Given the description of an element on the screen output the (x, y) to click on. 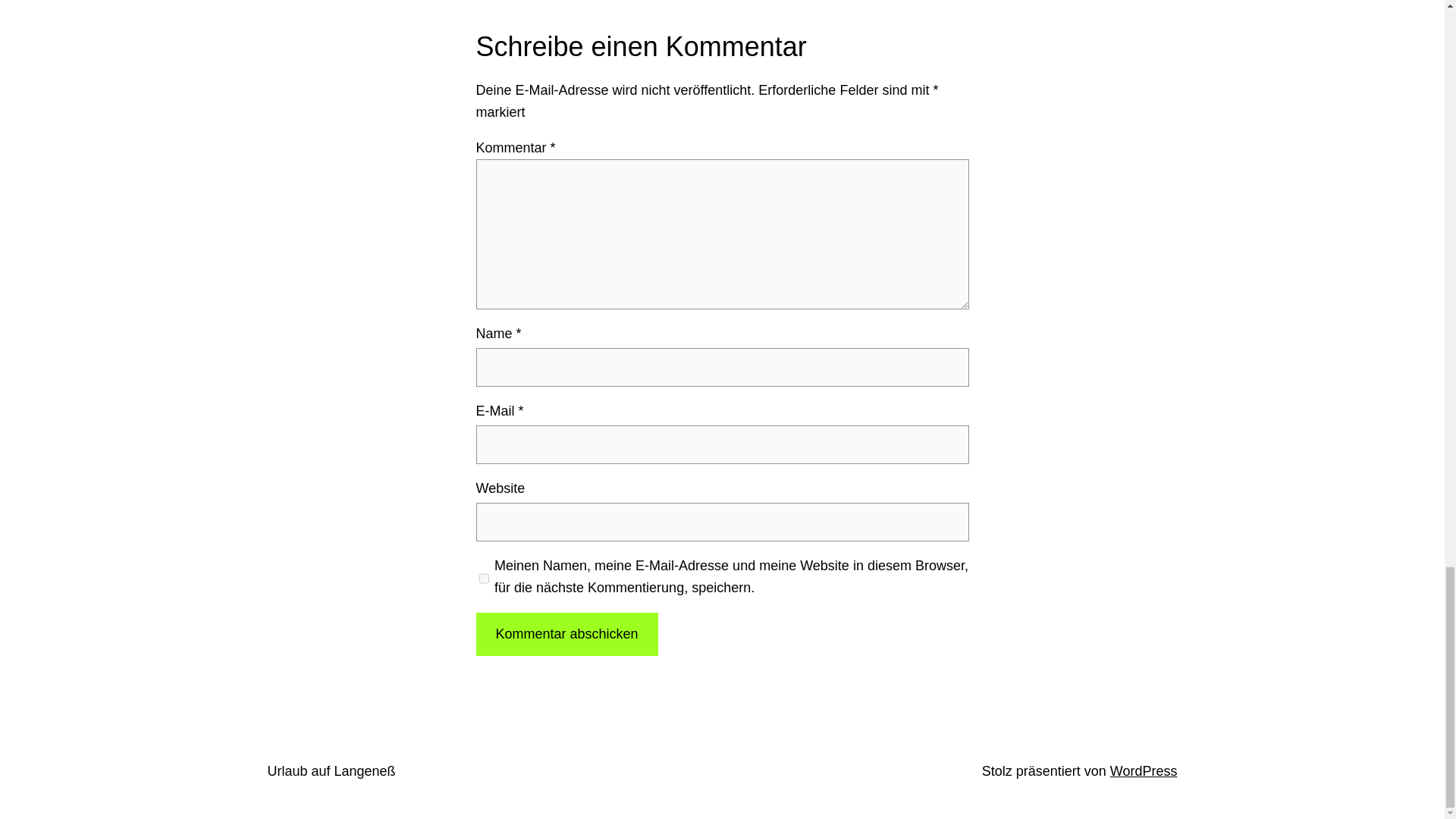
Kommentar abschicken (567, 634)
WordPress (1143, 770)
Kommentar abschicken (567, 634)
